Given the description of an element on the screen output the (x, y) to click on. 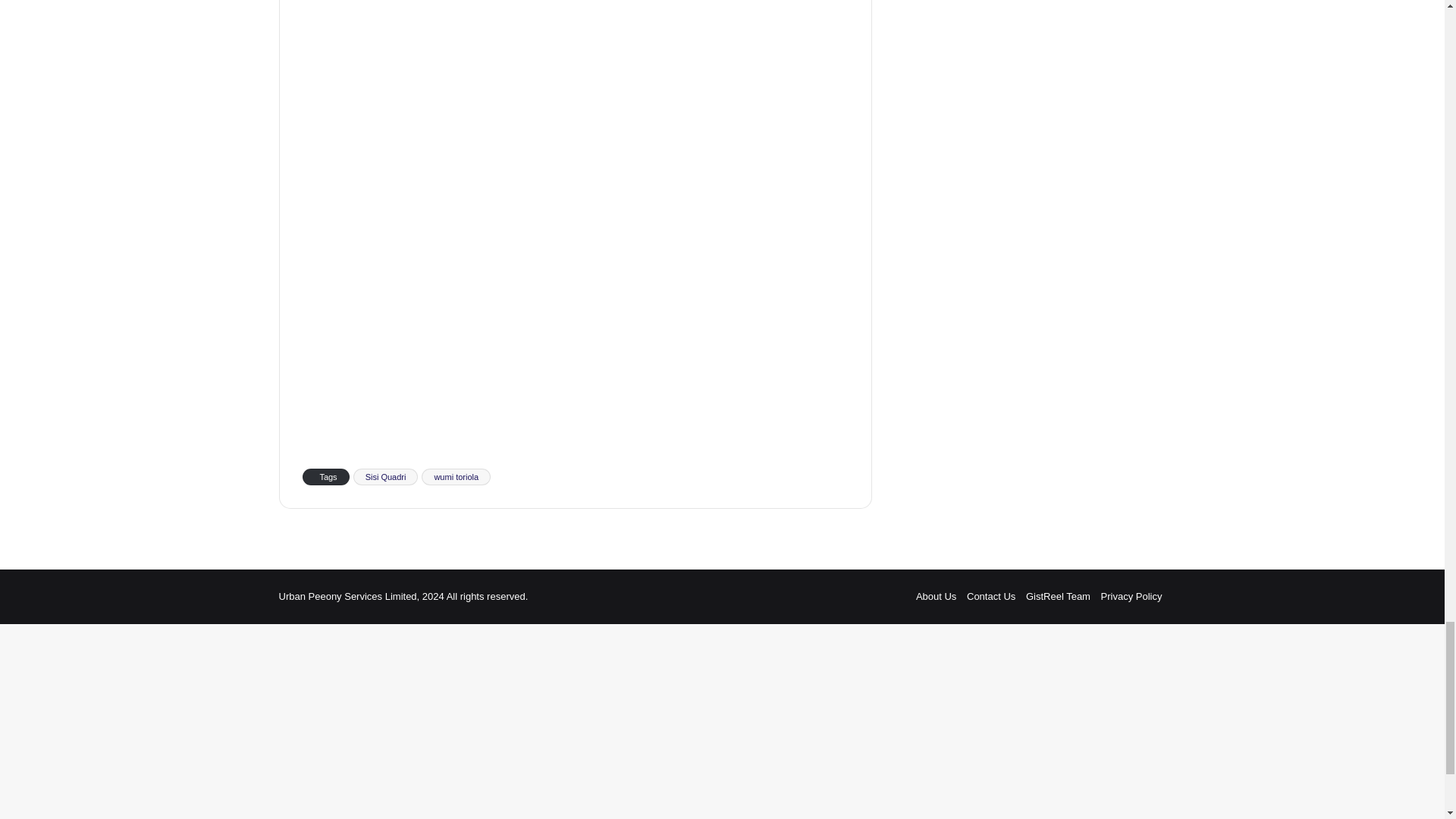
wumi toriola (456, 476)
Contact Us (990, 595)
Sisi Quadri (386, 476)
GistReel Team (1058, 595)
About Us (935, 595)
Privacy Policy (1130, 595)
